Given the description of an element on the screen output the (x, y) to click on. 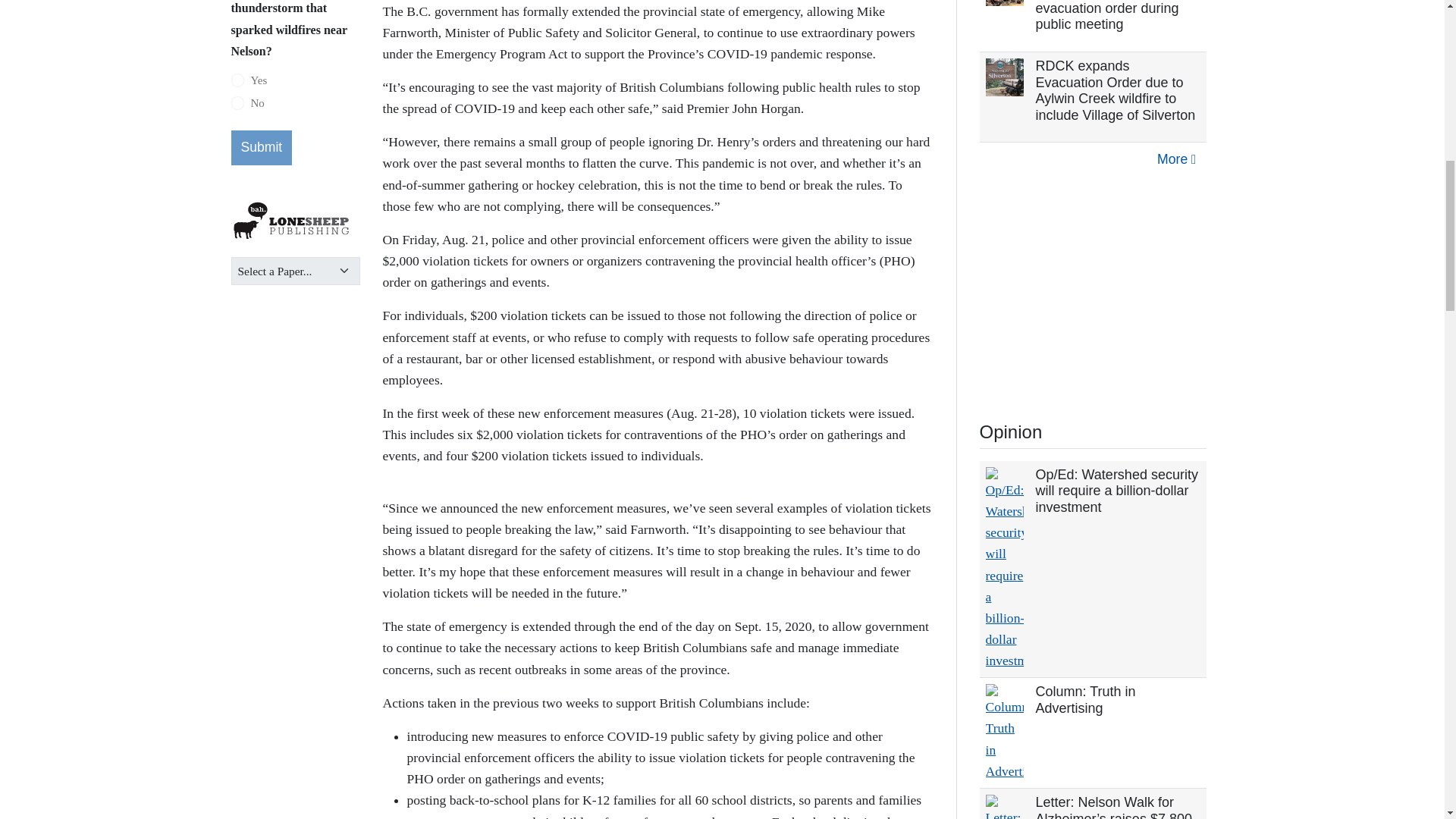
More (1176, 159)
Submit (261, 147)
3rd party ad content (1093, 289)
gpoll24ce86b7a (237, 79)
gpoll21fab29bd (237, 102)
Submit (261, 147)
